Given the description of an element on the screen output the (x, y) to click on. 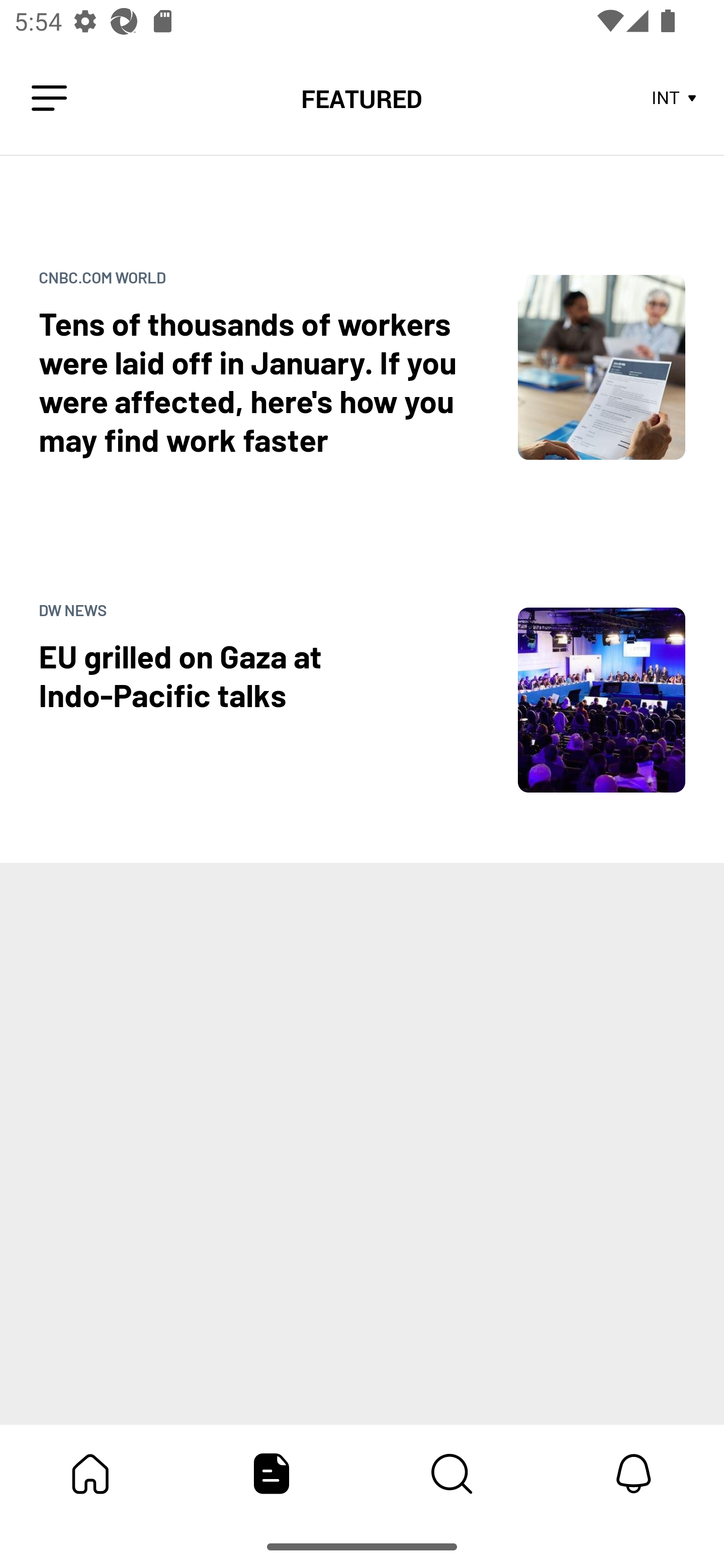
INT Store Area (674, 98)
Leading Icon (49, 98)
My Bundle (90, 1473)
Content Store (452, 1473)
Notifications (633, 1473)
